Given the description of an element on the screen output the (x, y) to click on. 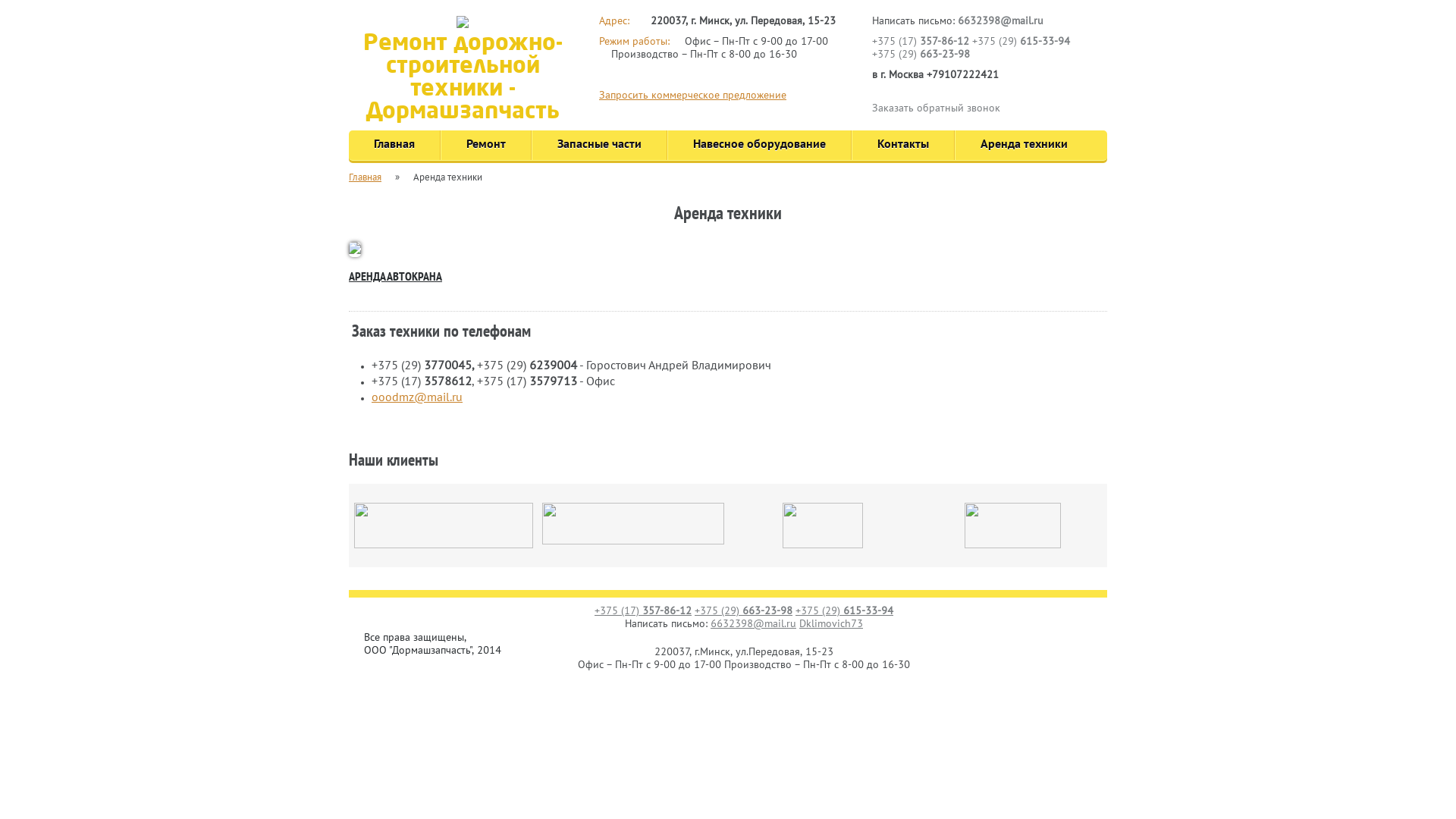
+375 (29) 615-33-94 Element type: text (844, 611)
+375 (29) 615-33-94 Element type: text (1021, 42)
+375 (17) 357-86-12 Element type: text (642, 611)
+375 (17) 357-86-12 Element type: text (920, 42)
Dklimovich73 Element type: text (830, 624)
+375 (29) 663-23-98 Element type: text (920, 54)
6632398@mail.ru Element type: text (753, 624)
ooodmz@mail.ru Element type: text (416, 397)
6632398@mail.ru Element type: text (1000, 21)
+375 (29) 663-23-98 Element type: text (743, 611)
